Given the description of an element on the screen output the (x, y) to click on. 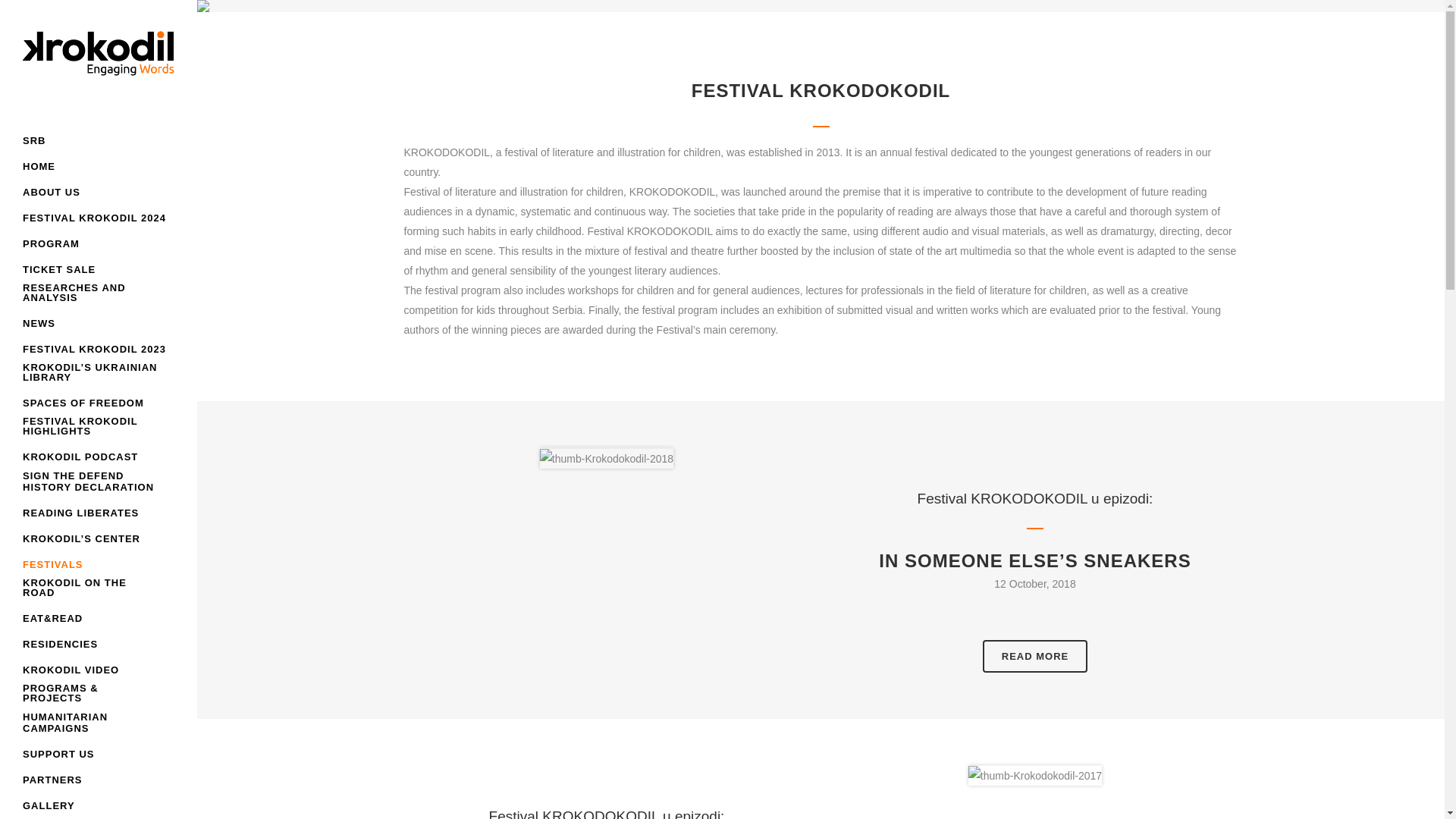
SPACES OF FREEDOM (98, 403)
KROKODIL PODCAST (98, 457)
FESTIVAL KROKODIL 2023 (98, 349)
ABOUT US (98, 192)
thumb-Krokodokodil-2017 (1035, 775)
SIGN THE DEFEND HISTORY DECLARATION (98, 485)
HOME (98, 166)
thumb-Krokodokodil-2018 (606, 458)
PROGRAM (98, 243)
SRB (98, 140)
FESTIVAL KROKODIL HIGHLIGHTS (98, 430)
FESTIVAL KROKODIL 2024 (98, 217)
NEWS (98, 323)
RESEARCHES AND ANALYSIS (98, 296)
TICKET SALE (98, 269)
